Given the description of an element on the screen output the (x, y) to click on. 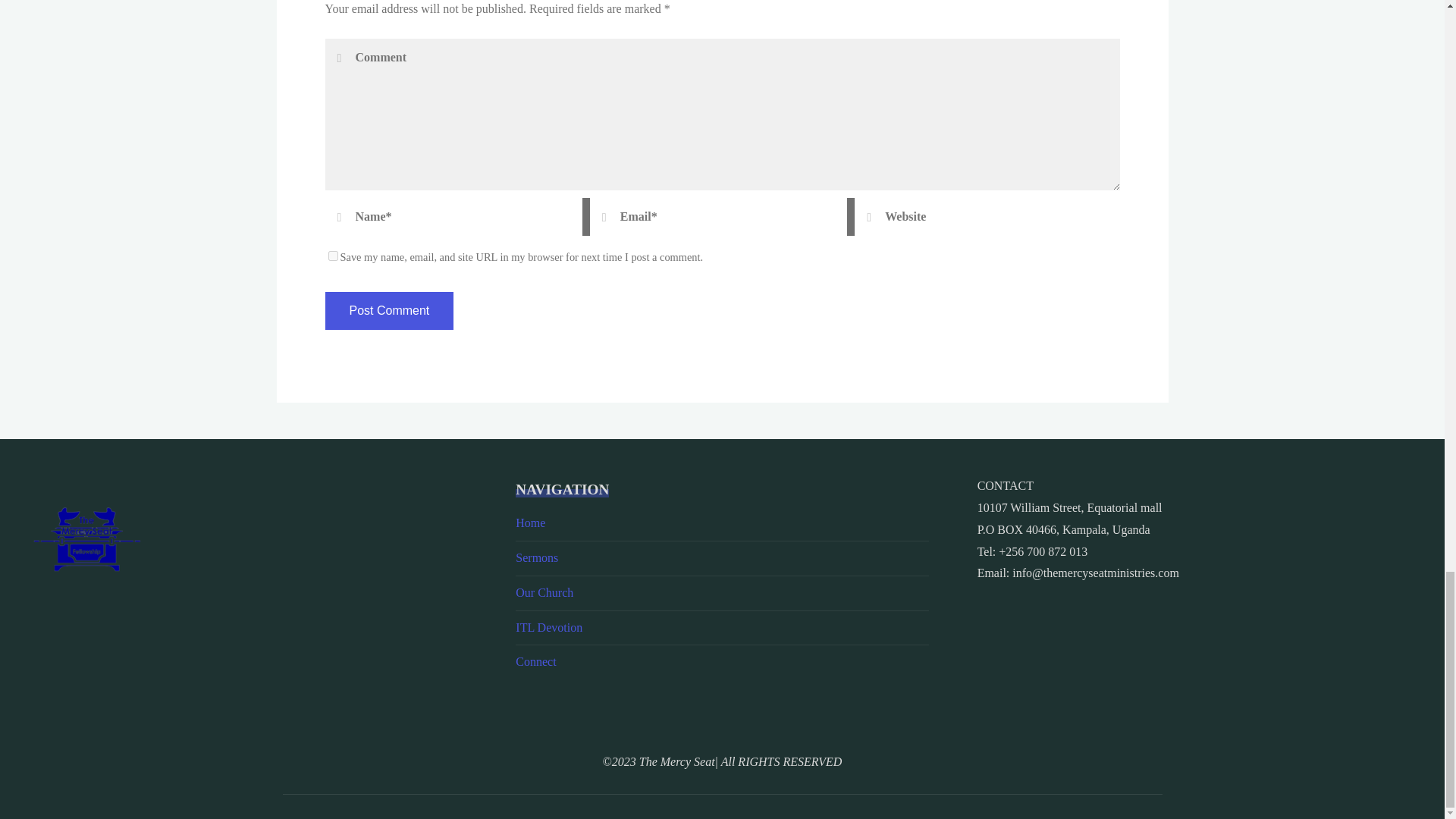
Post Comment (388, 310)
yes (332, 255)
Sermons (536, 557)
Connect (535, 661)
ITL Devotion (548, 626)
Home (529, 522)
Our Church (544, 592)
Post Comment (388, 310)
